Given the description of an element on the screen output the (x, y) to click on. 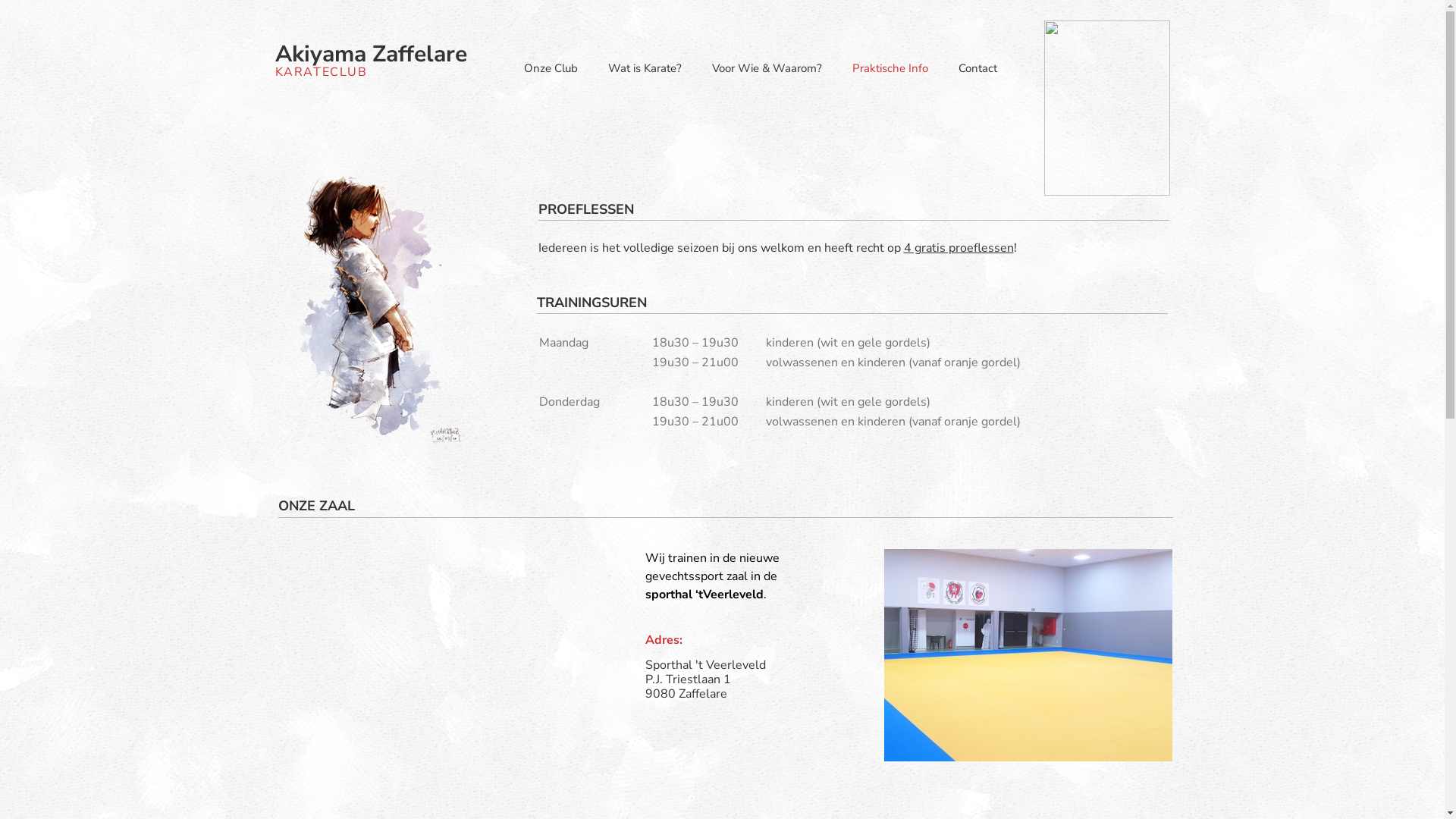
Praktische Info Element type: text (875, 67)
Voor Wie & Waarom? Element type: text (750, 67)
Onze Club Element type: text (534, 67)
Akiyama Zaffelare Element type: text (370, 53)
Wat is Karate? Element type: text (629, 67)
Contact Element type: text (962, 67)
